Given the description of an element on the screen output the (x, y) to click on. 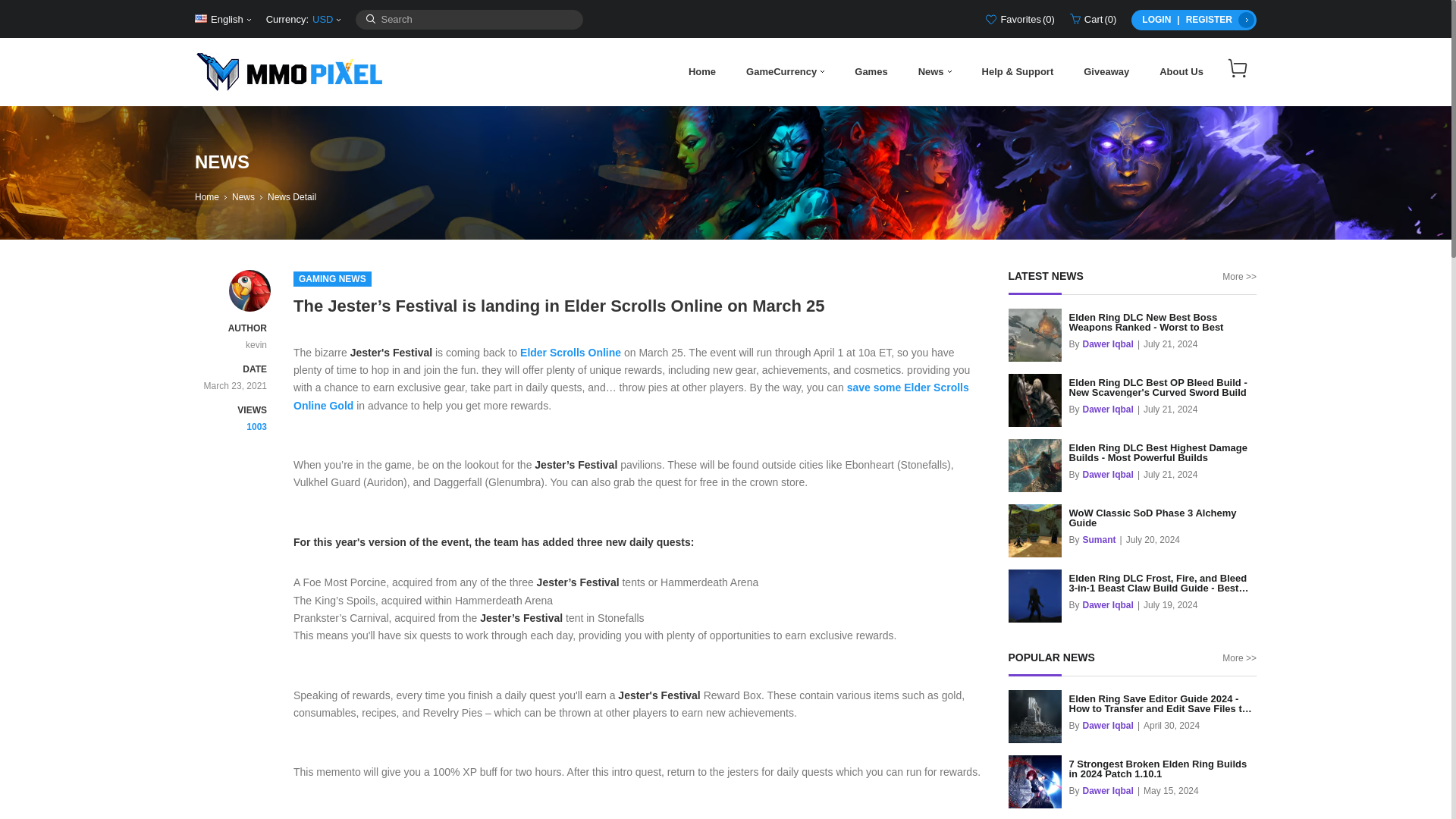
Games (871, 71)
News (242, 196)
Home (207, 196)
Giveaway (1106, 71)
Elden Ring DLC New Best Boss Weapons Ranked - Worst to Best (1162, 322)
GameCurrency (785, 71)
save some Elder Scrolls Online Gold (631, 396)
Buy Elder Scrolls Online Gold (631, 396)
News Detail (291, 196)
Elder Scrolls Online (570, 352)
Dawer Iqbal (1108, 409)
News (934, 71)
Elder Scrolls Online Gold (570, 352)
About Us (1181, 71)
